Given the description of an element on the screen output the (x, y) to click on. 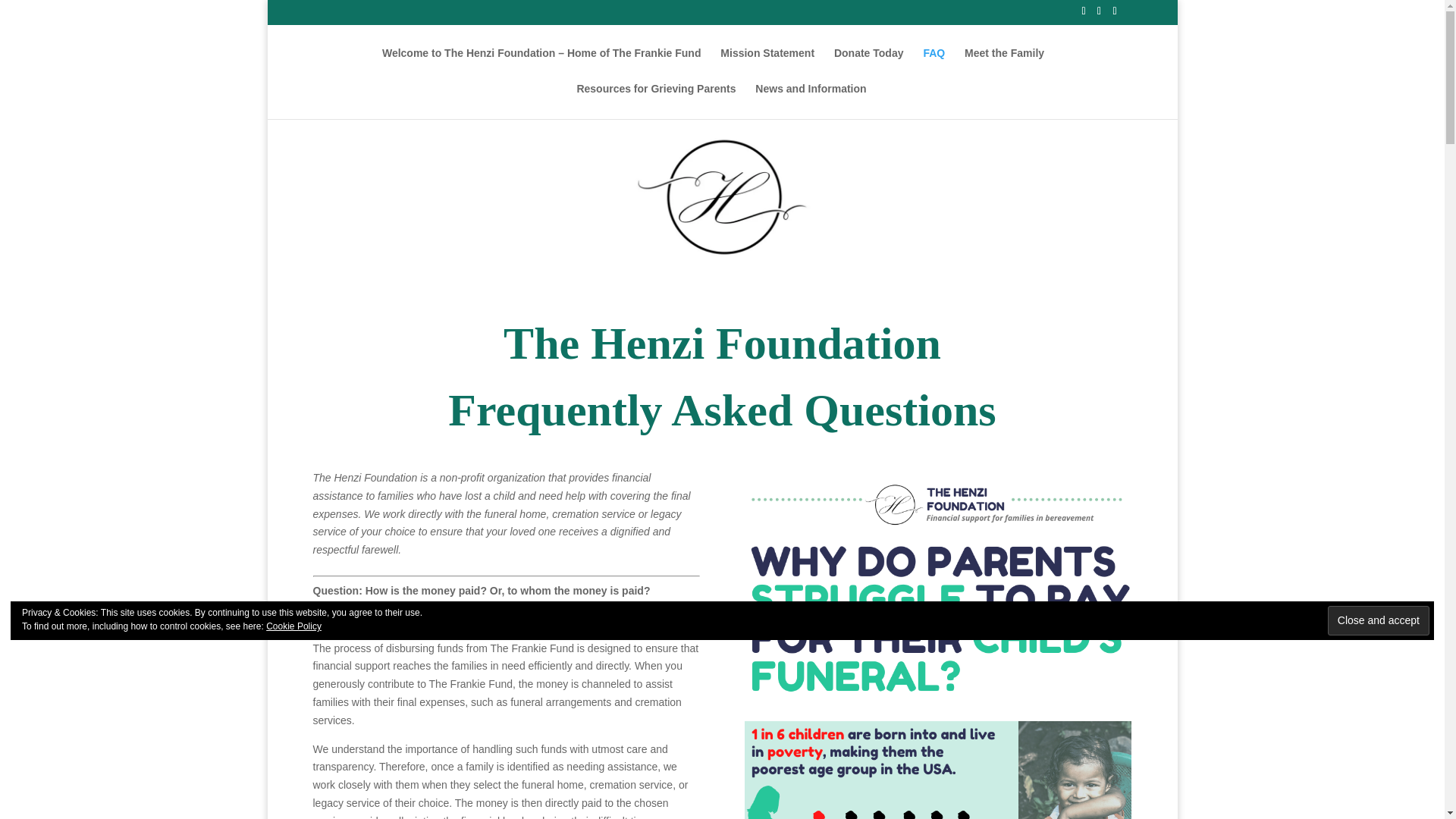
Close and accept (1378, 620)
Mission Statement (766, 65)
Cookie Policy (293, 625)
Close and accept (1378, 620)
Donate Today (869, 65)
News and Information (810, 100)
Resources for Grieving Parents (655, 100)
Meet the Family (1003, 65)
cropped-istockphoto-1076523806-612x612-1.jpg (721, 197)
